Given the description of an element on the screen output the (x, y) to click on. 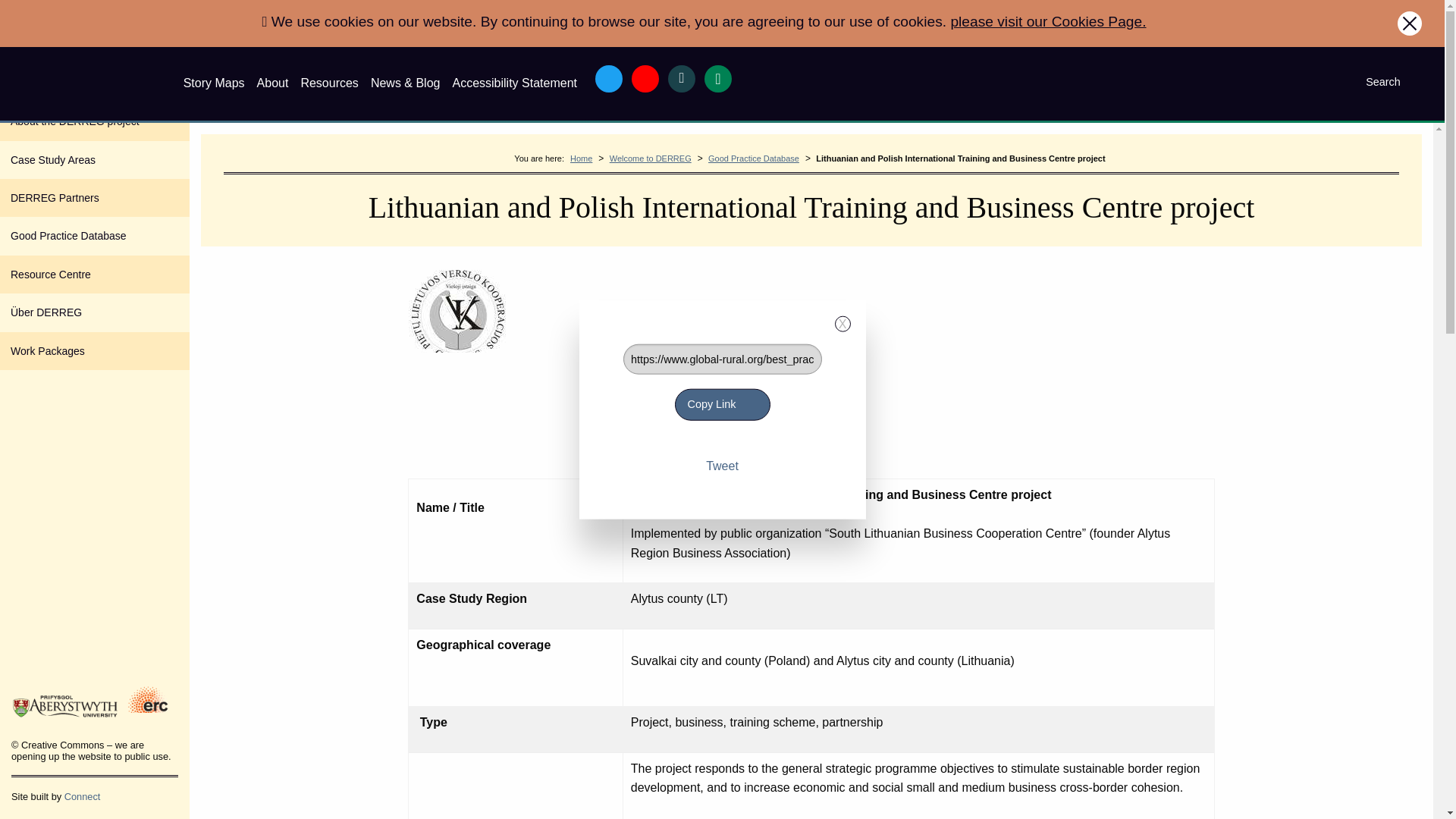
Welcome to DERREG (650, 157)
Close (1409, 23)
Resources (329, 83)
YouTube (645, 78)
Copy Link (722, 404)
Connect (82, 796)
Home (581, 157)
Call: 01970622600 (718, 78)
X (842, 324)
Global Rural (94, 81)
